Given the description of an element on the screen output the (x, y) to click on. 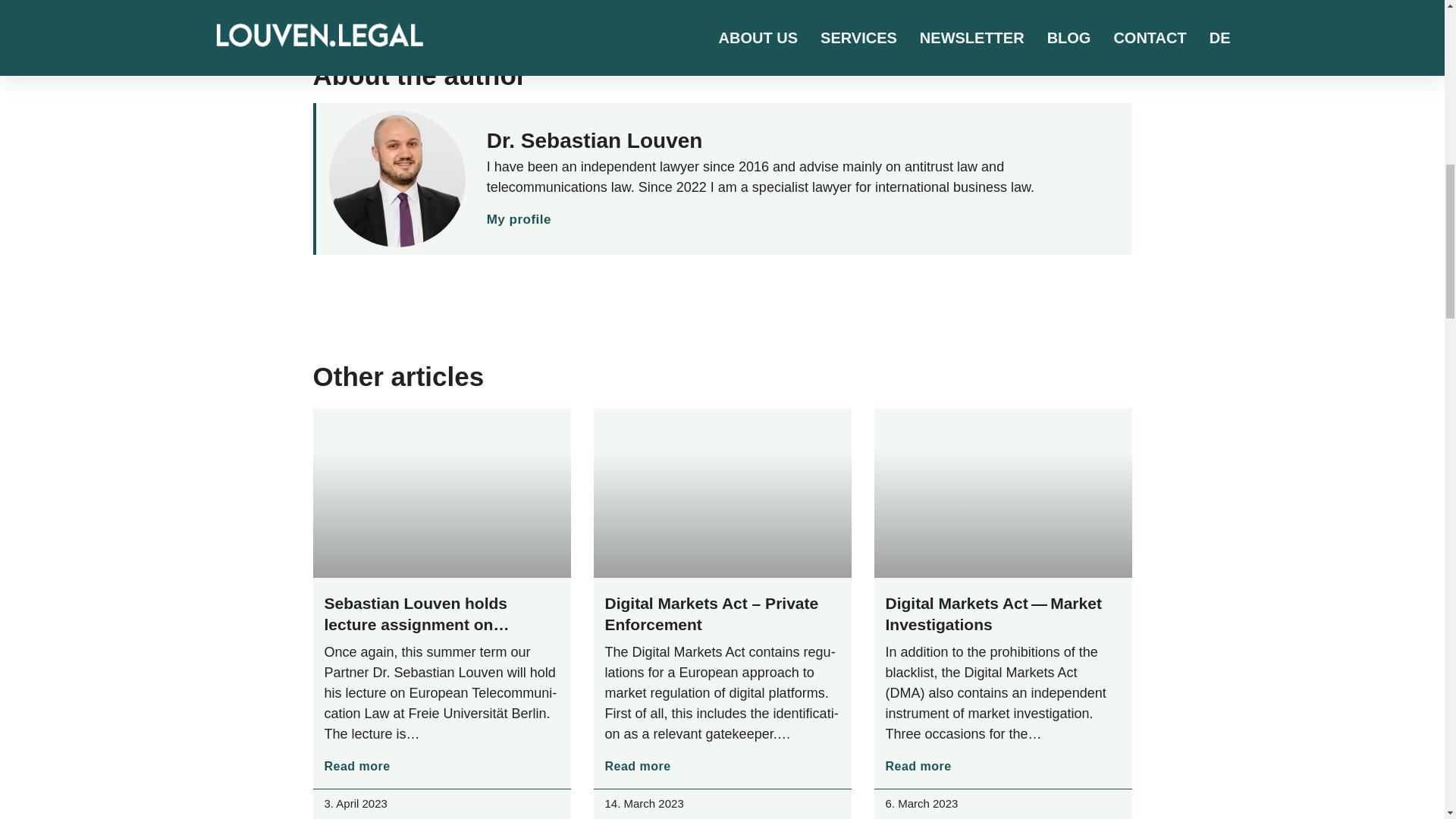
Read more (357, 766)
Read more (638, 766)
My profile (518, 219)
